Given the description of an element on the screen output the (x, y) to click on. 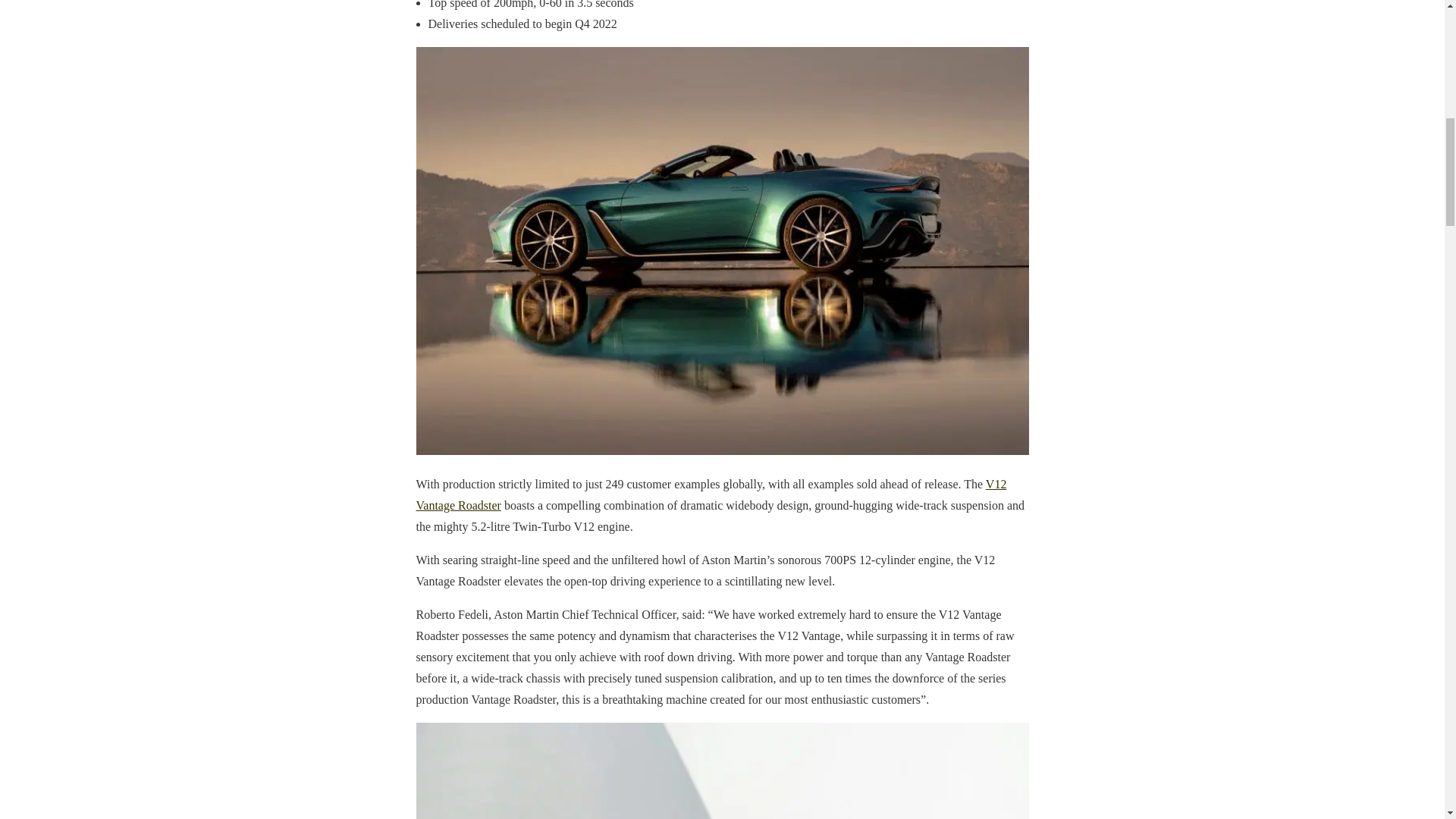
V12 Vantage Roadster (710, 494)
